Given the description of an element on the screen output the (x, y) to click on. 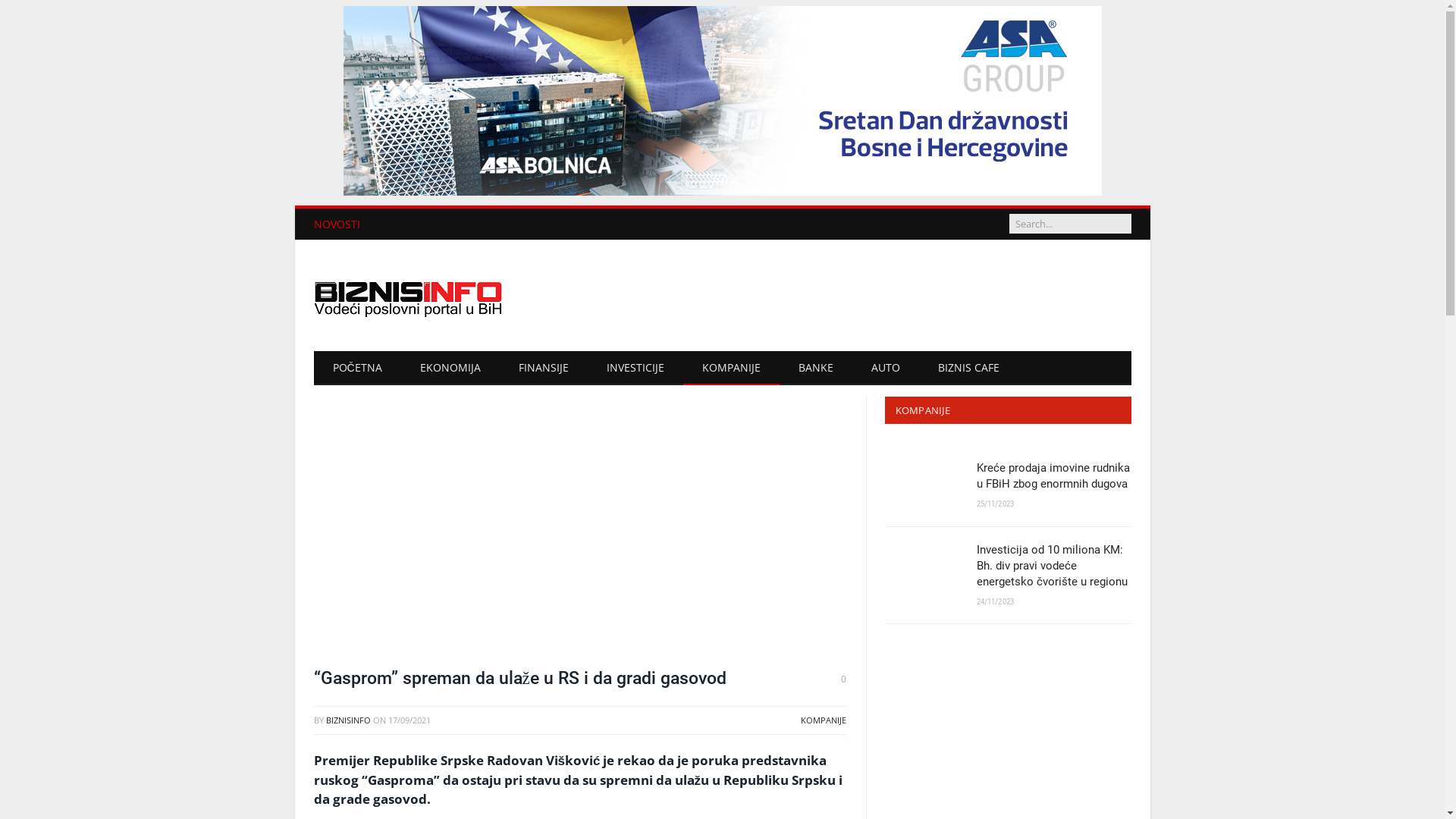
FINANSIJE Element type: text (543, 368)
AUTO Element type: text (885, 368)
KOMPANIJE Element type: text (731, 368)
EKONOMIJA Element type: text (450, 368)
INVESTICIJE Element type: text (635, 368)
BIZNIS CAFE Element type: text (968, 368)
Biznis Info Element type: hover (408, 295)
BIZNISINFO Element type: text (348, 719)
0 Element type: text (842, 679)
KOMPANIJE Element type: text (823, 719)
BANKE Element type: text (815, 368)
